Given the description of an element on the screen output the (x, y) to click on. 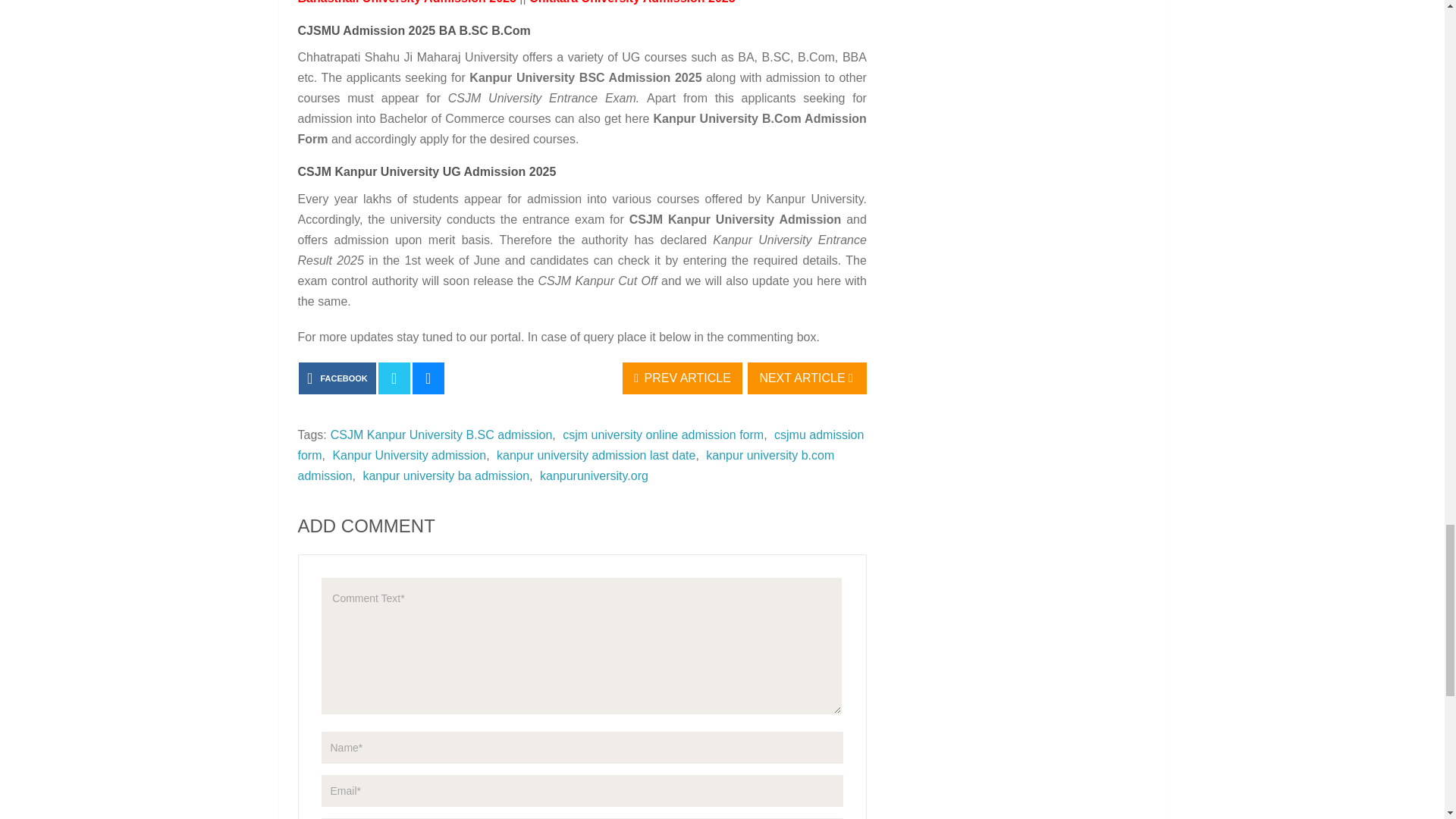
FACEBOOK (336, 377)
Banasthali University Admission 2025 (406, 2)
Chitkara University Admission 2025 (632, 2)
